Given the description of an element on the screen output the (x, y) to click on. 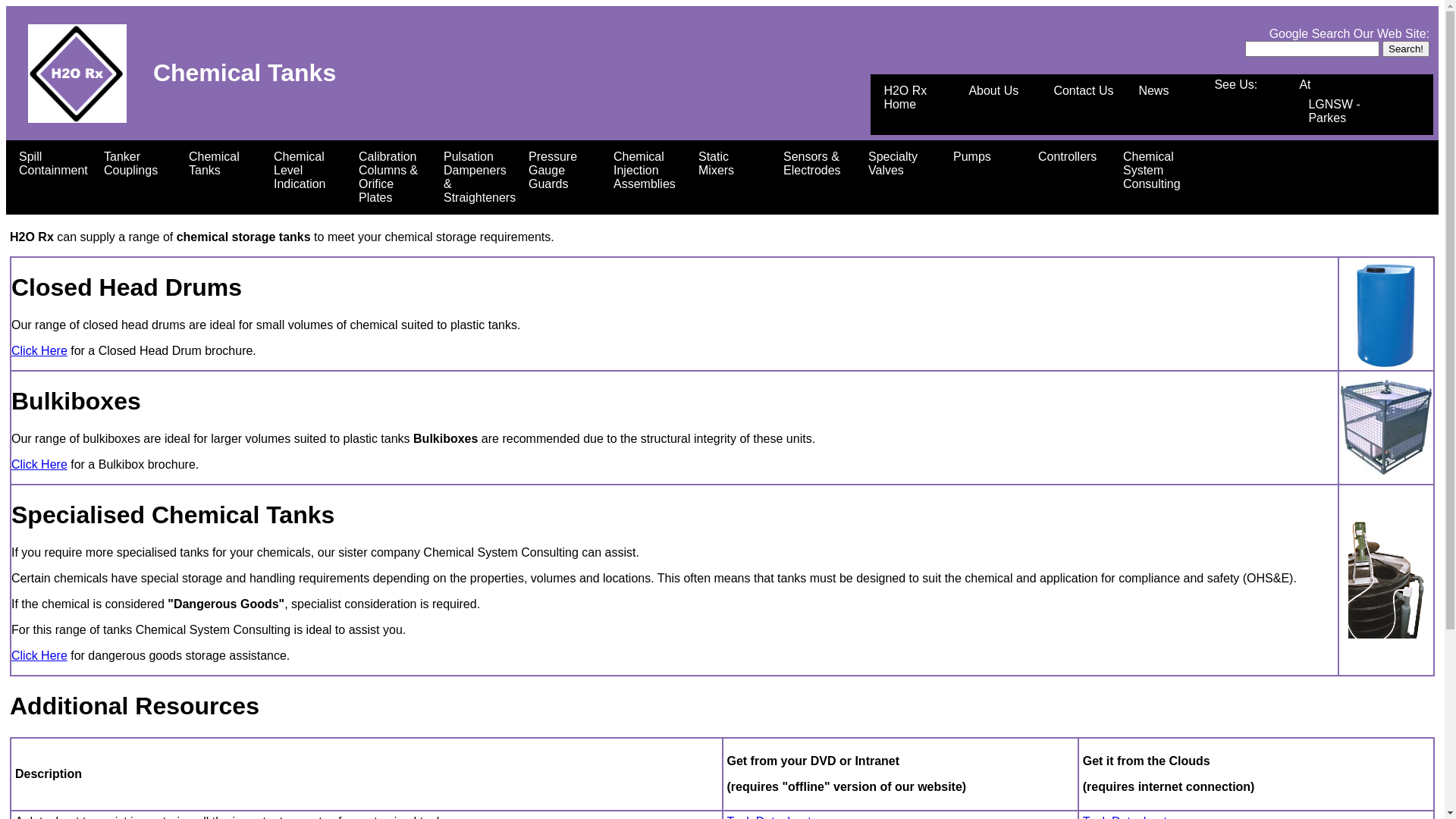
Contact Us Element type: text (1086, 90)
Chemical Tanks Element type: text (221, 163)
Chemical Level Indication Element type: text (306, 170)
Click Here Element type: text (39, 350)
Specialty Valves Element type: text (901, 163)
Pulsation Dampeners & Straighteners Element type: text (476, 177)
Calibration Columns & Orifice Plates Element type: text (391, 177)
Chemical Storage Tanks Element type: hover (1386, 579)
Pumps Element type: text (986, 156)
Sensors & Electrodes Element type: text (816, 163)
About Us Element type: text (1001, 90)
Search! Element type: text (1405, 48)
Click Here Element type: text (39, 655)
News Element type: text (1171, 90)
Spill Containment Element type: text (51, 163)
Controllers Element type: text (1071, 156)
Bulkiboxes Element type: hover (1385, 426)
Chemical Injection Assemblies Element type: text (646, 170)
Click Here Element type: text (39, 464)
Chemical System Consulting Element type: text (1155, 170)
Pressure Gauge Guards Element type: text (561, 170)
Closed Head Drum Element type: hover (1386, 313)
H2O Rx Home Element type: text (916, 97)
Static Mixers Element type: text (731, 163)
LGNSW - Parkes Element type: text (1341, 111)
Tanker Couplings Element type: text (136, 163)
